Given the description of an element on the screen output the (x, y) to click on. 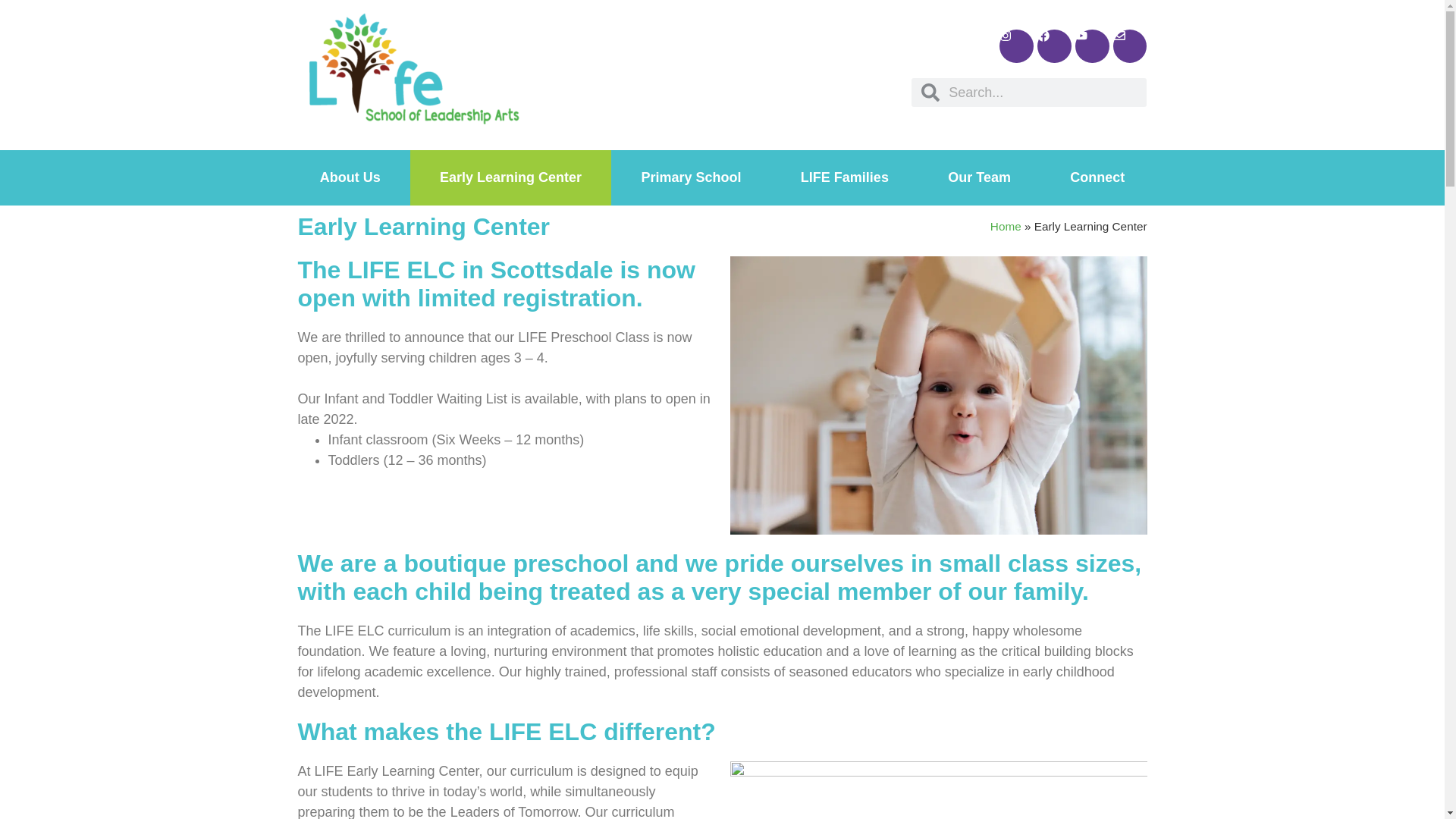
Connect (1097, 177)
About Us (349, 177)
LIFE Families (844, 177)
Our Team (979, 177)
Primary School (690, 177)
Early Learning Center (510, 177)
